Given the description of an element on the screen output the (x, y) to click on. 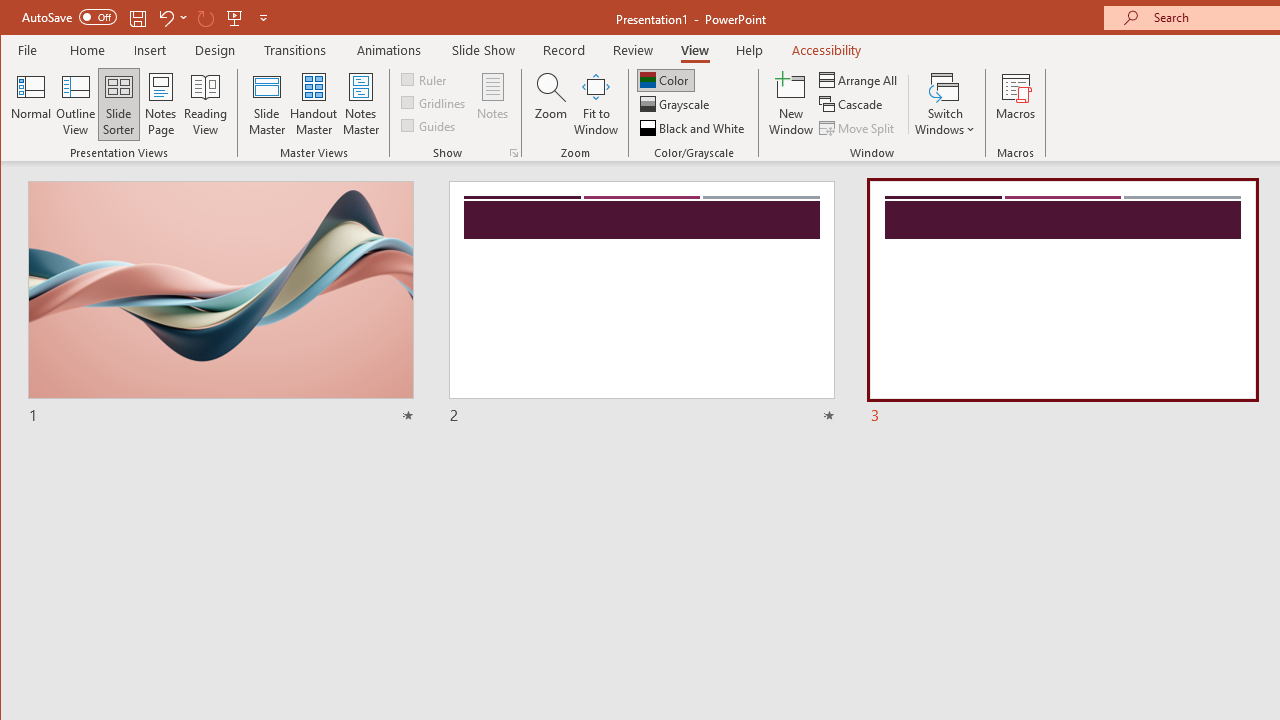
Handout Master (314, 104)
Outline View (75, 104)
Grid Settings... (513, 152)
Fit to Window (596, 104)
Arrange All (859, 80)
Color (666, 80)
Grayscale (676, 103)
Notes Page (160, 104)
